Given the description of an element on the screen output the (x, y) to click on. 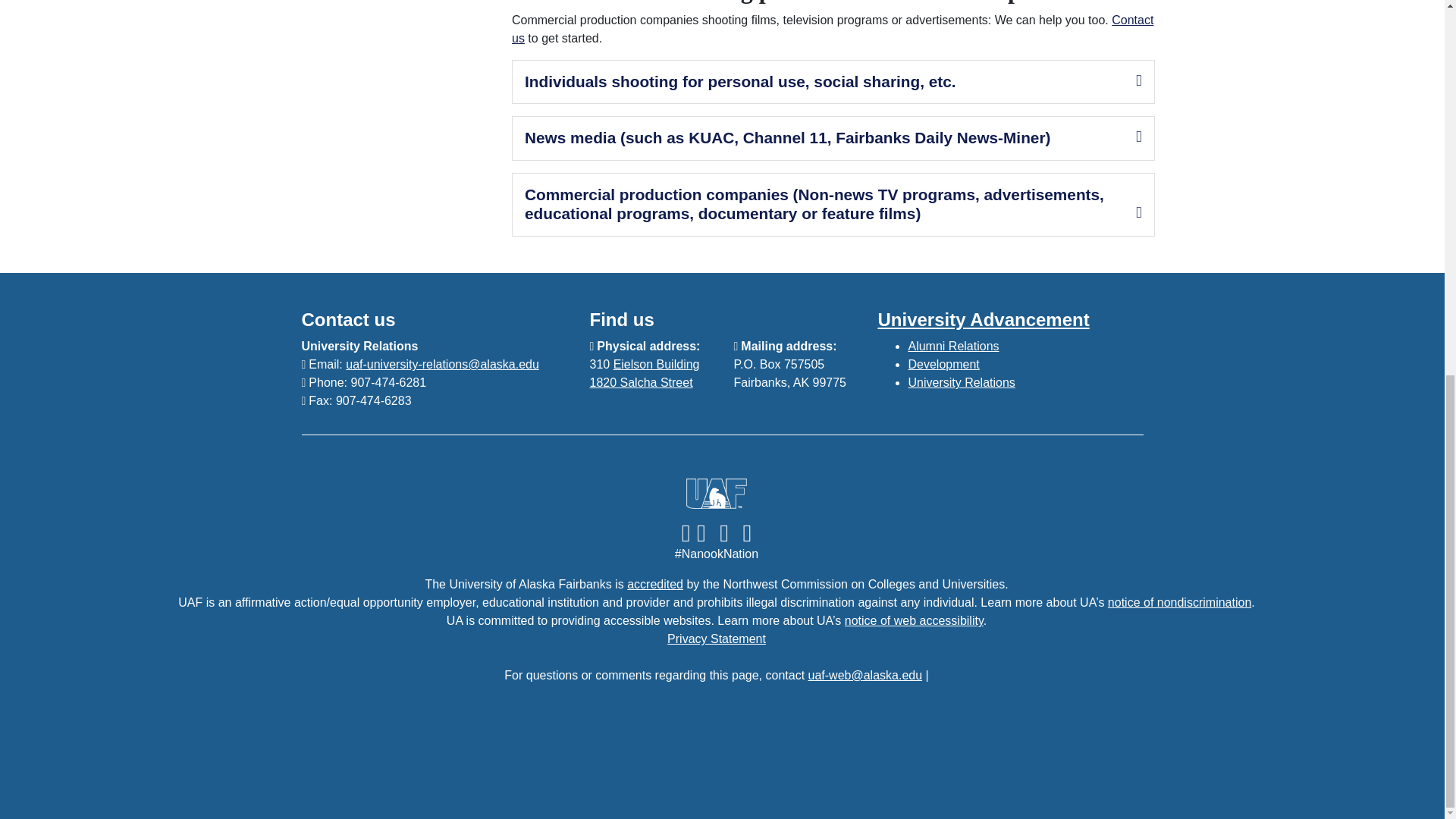
Follow UAF on TikTok (724, 531)
Follow UAF on Instagram (700, 531)
Individuals shooting for personal use, social sharing, etc. (740, 81)
